Given the description of an element on the screen output the (x, y) to click on. 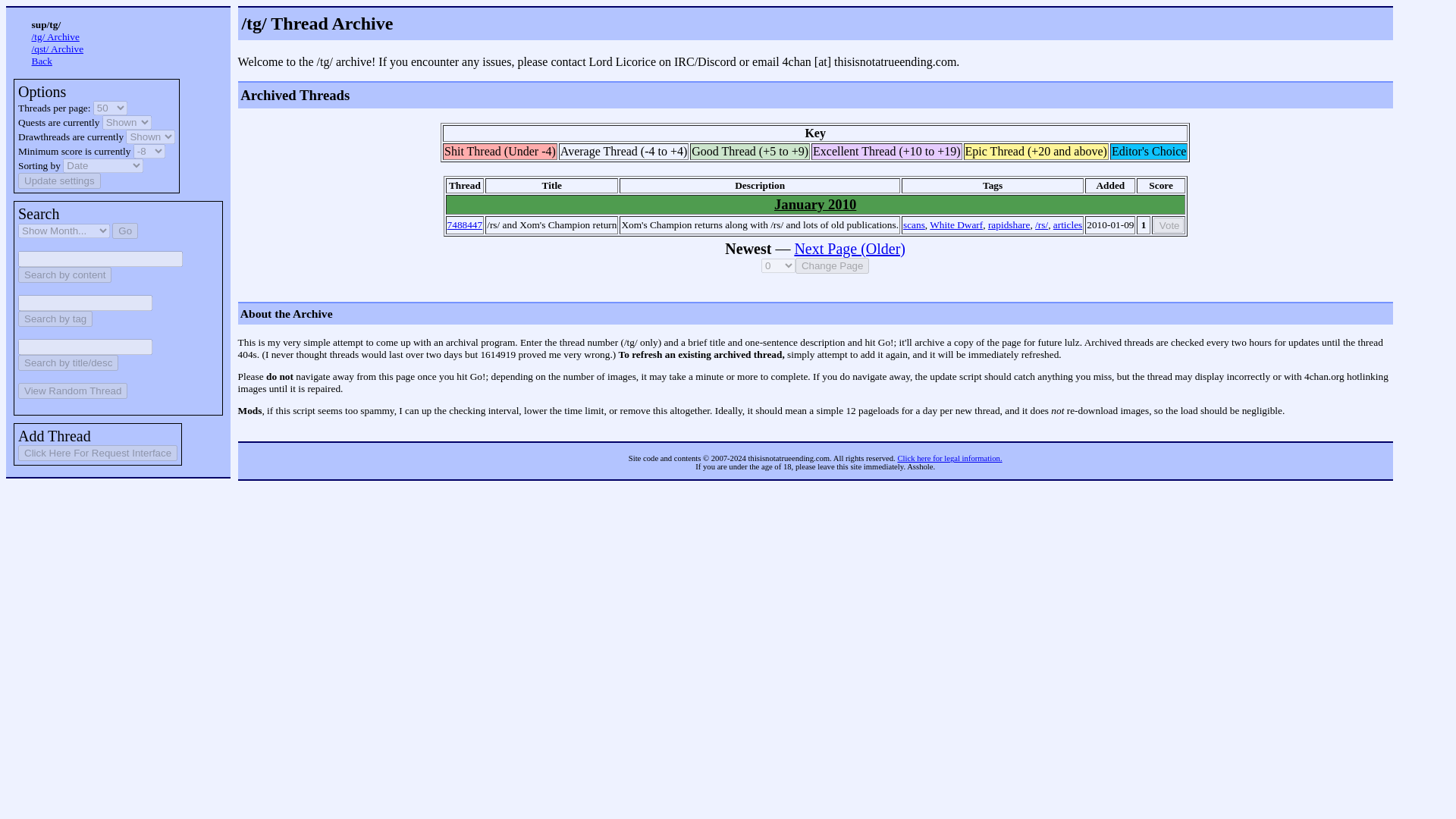
Go (125, 230)
Go (125, 230)
Search by tag (55, 318)
Search by content (64, 274)
Vote (1168, 224)
Back (42, 60)
Search by content (64, 274)
articles (1066, 224)
Update settings (58, 180)
Vote (1168, 224)
rapidshare (1009, 224)
Search by tag (55, 318)
Click Here For Request Interface (97, 453)
Click here for legal information. (948, 458)
